Given the description of an element on the screen output the (x, y) to click on. 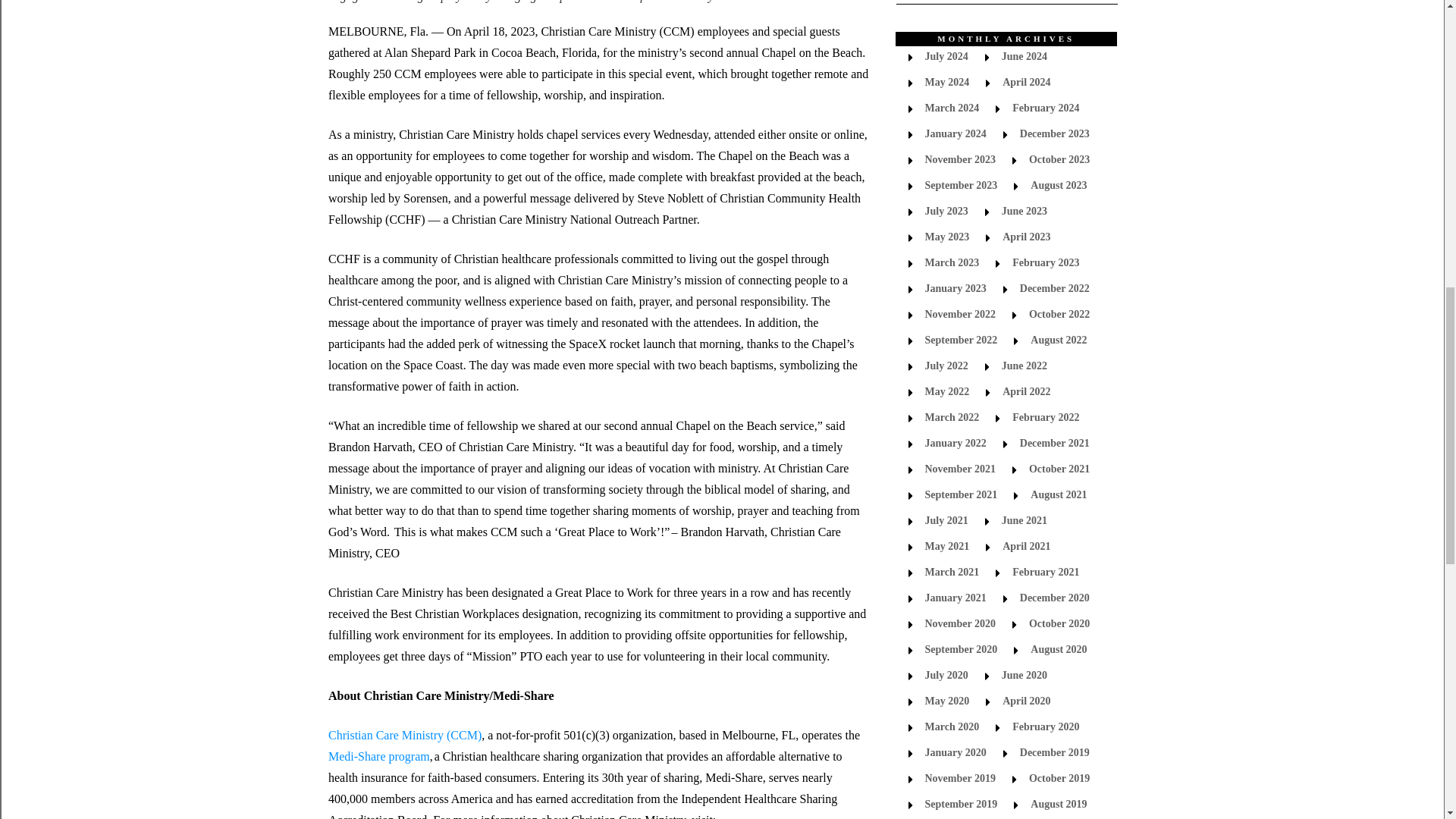
Medi-Share program (379, 756)
